Given the description of an element on the screen output the (x, y) to click on. 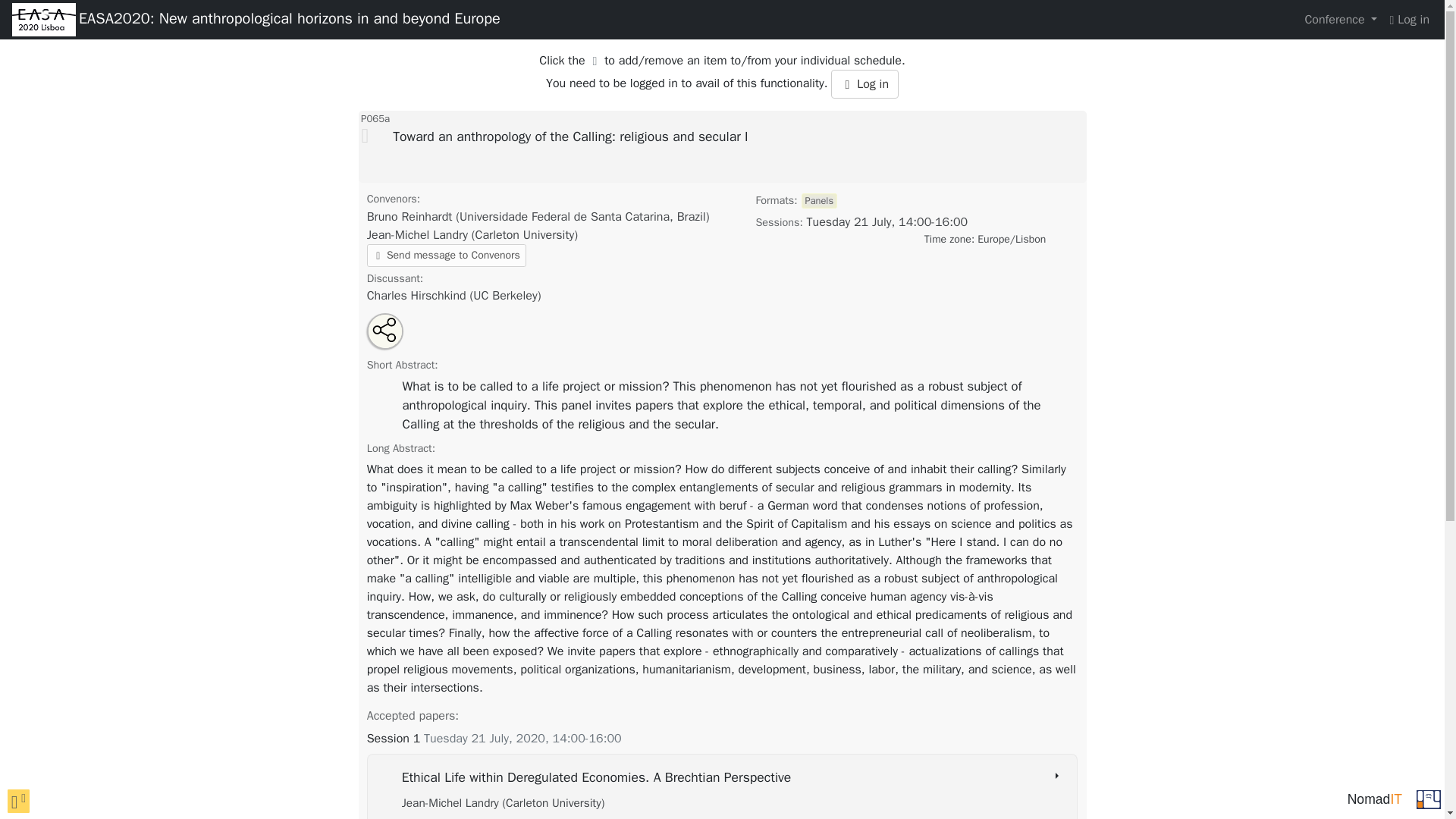
Email this panel link (395, 339)
Convenor (472, 234)
login (1409, 19)
Conference (1340, 19)
EASA2020: New anthropological horizons in and beyond Europe (289, 19)
Log in (864, 83)
Author (503, 802)
 Log in (1409, 19)
Open an email with this panel link (395, 339)
Discussant (453, 295)
Log in (864, 83)
NomadIT (1374, 798)
Send message to Convenors (445, 255)
Share this panel (386, 330)
